Given the description of an element on the screen output the (x, y) to click on. 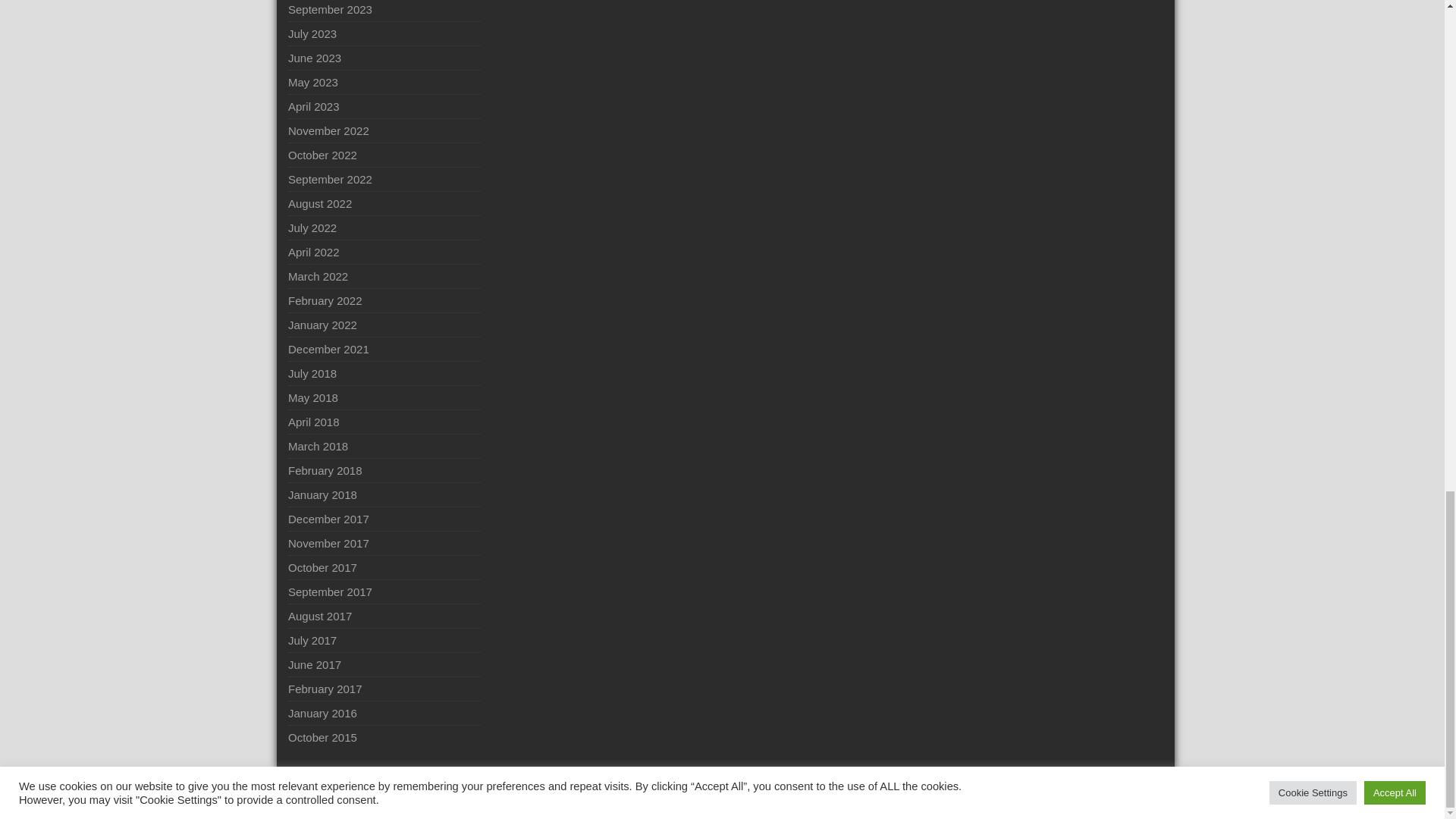
September 2023 (330, 9)
July 2022 (312, 227)
April 2023 (313, 106)
June 2023 (314, 57)
December 2021 (328, 349)
November 2022 (328, 130)
February 2022 (325, 300)
April 2022 (313, 252)
May 2023 (312, 82)
July 2023 (312, 33)
January 2022 (322, 324)
March 2022 (317, 276)
September 2022 (330, 179)
October 2022 (322, 154)
July 2018 (312, 373)
